Given the description of an element on the screen output the (x, y) to click on. 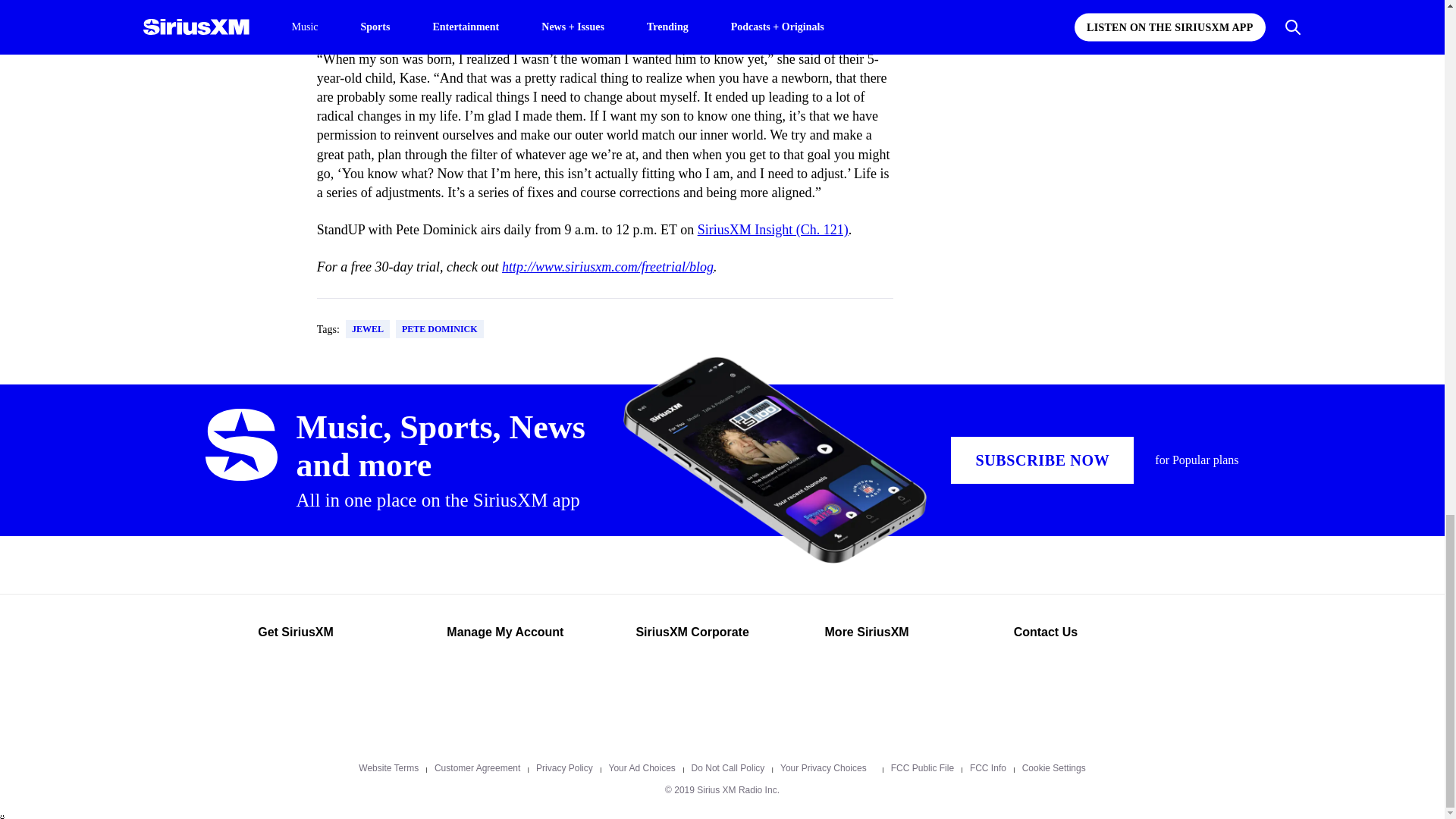
2014 split (483, 20)
JEWEL (368, 329)
